Given the description of an element on the screen output the (x, y) to click on. 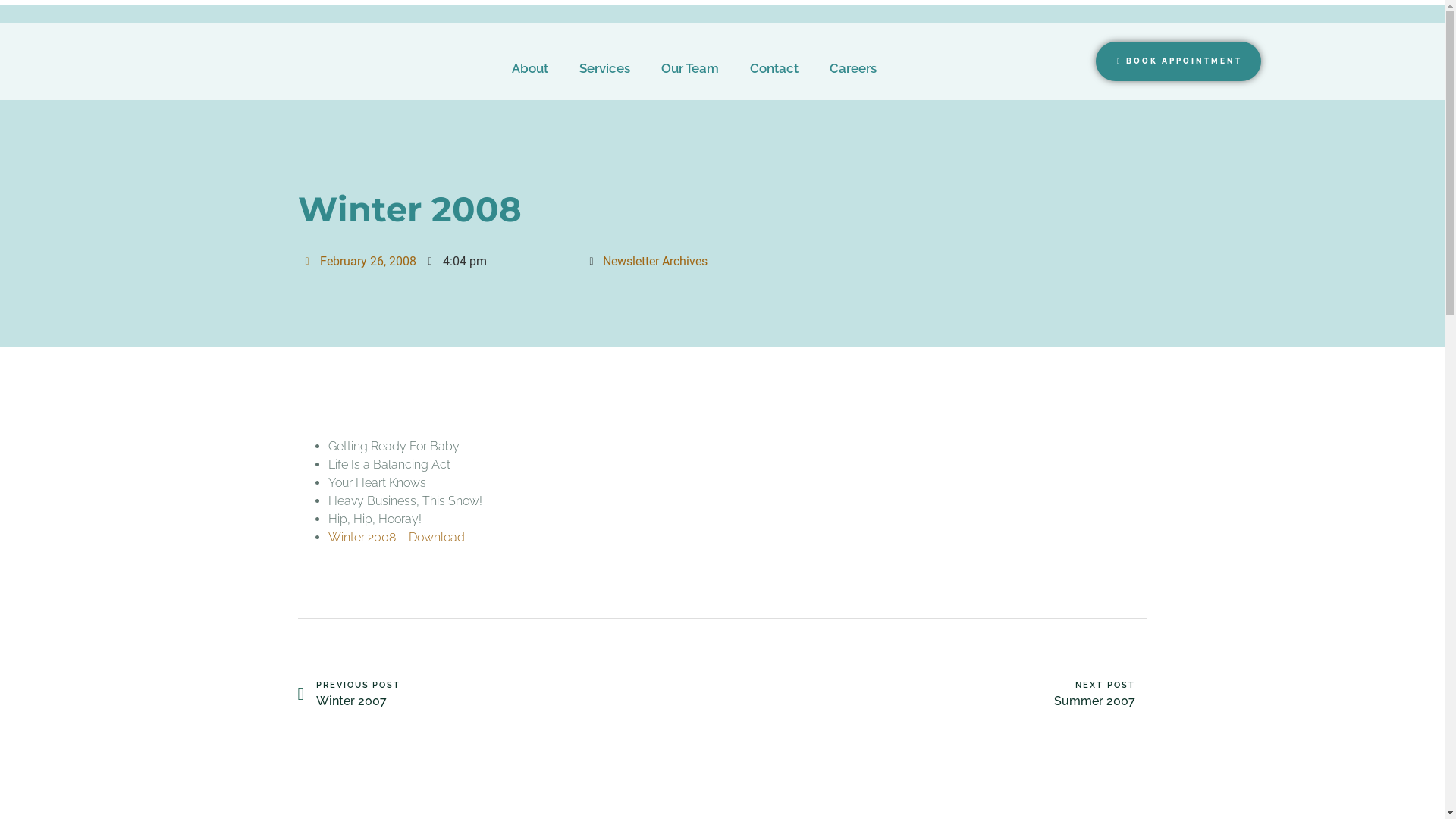
Contact Element type: text (774, 67)
Newsletter Archives Element type: text (654, 260)
Services Element type: text (604, 67)
Our Team Element type: text (689, 67)
Careers Element type: text (853, 67)
About Element type: text (529, 67)
February 26, 2008 Element type: text (359, 260)
PREVIOUS POST
Winter 2007 Element type: text (509, 694)
BOOK APPOINTMENT Element type: text (1178, 61)
NEXT POST
Summer 2007 Element type: text (933, 694)
